Given the description of an element on the screen output the (x, y) to click on. 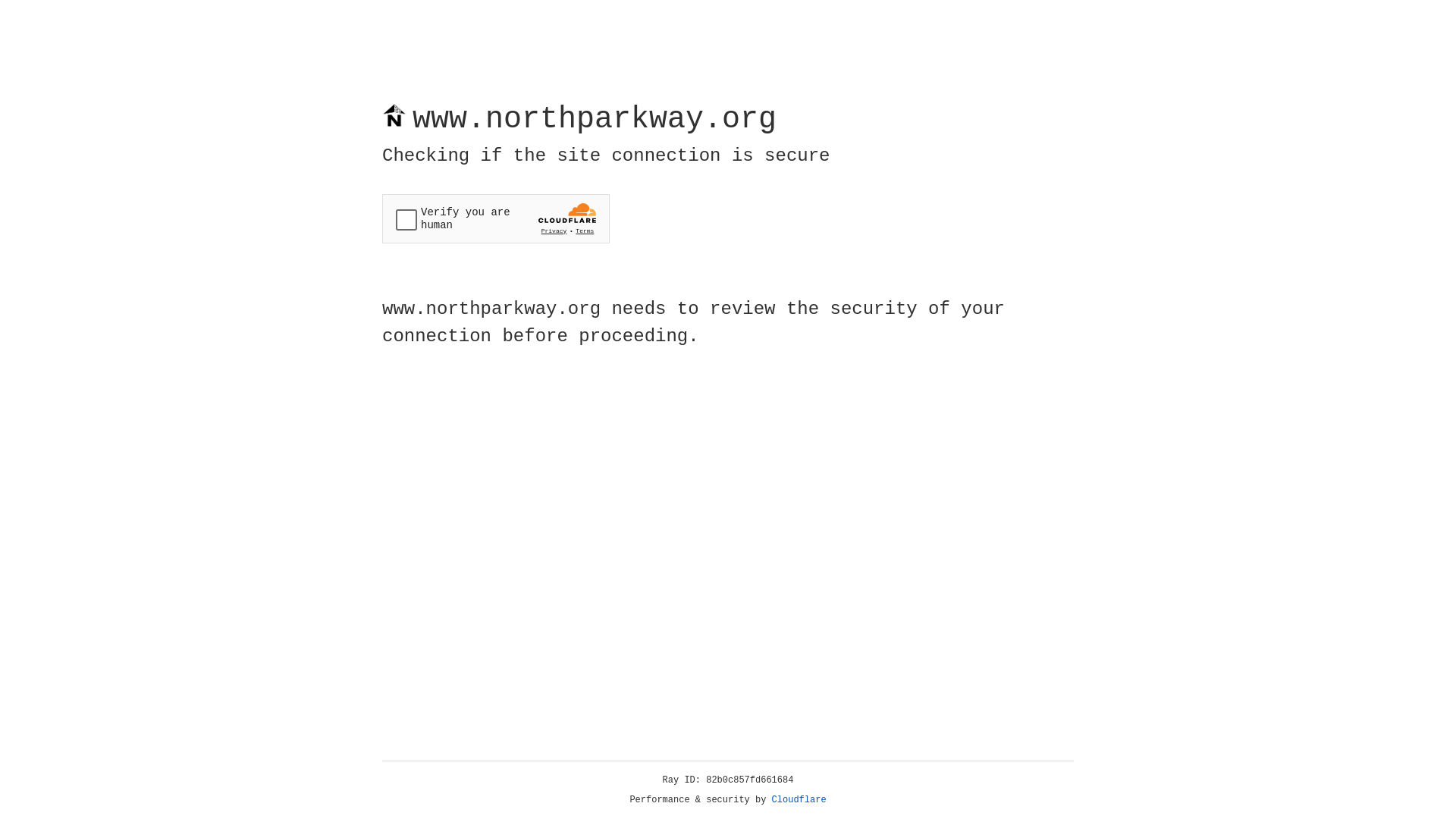
Widget containing a Cloudflare security challenge Element type: hover (495, 218)
Cloudflare Element type: text (798, 799)
